Given the description of an element on the screen output the (x, y) to click on. 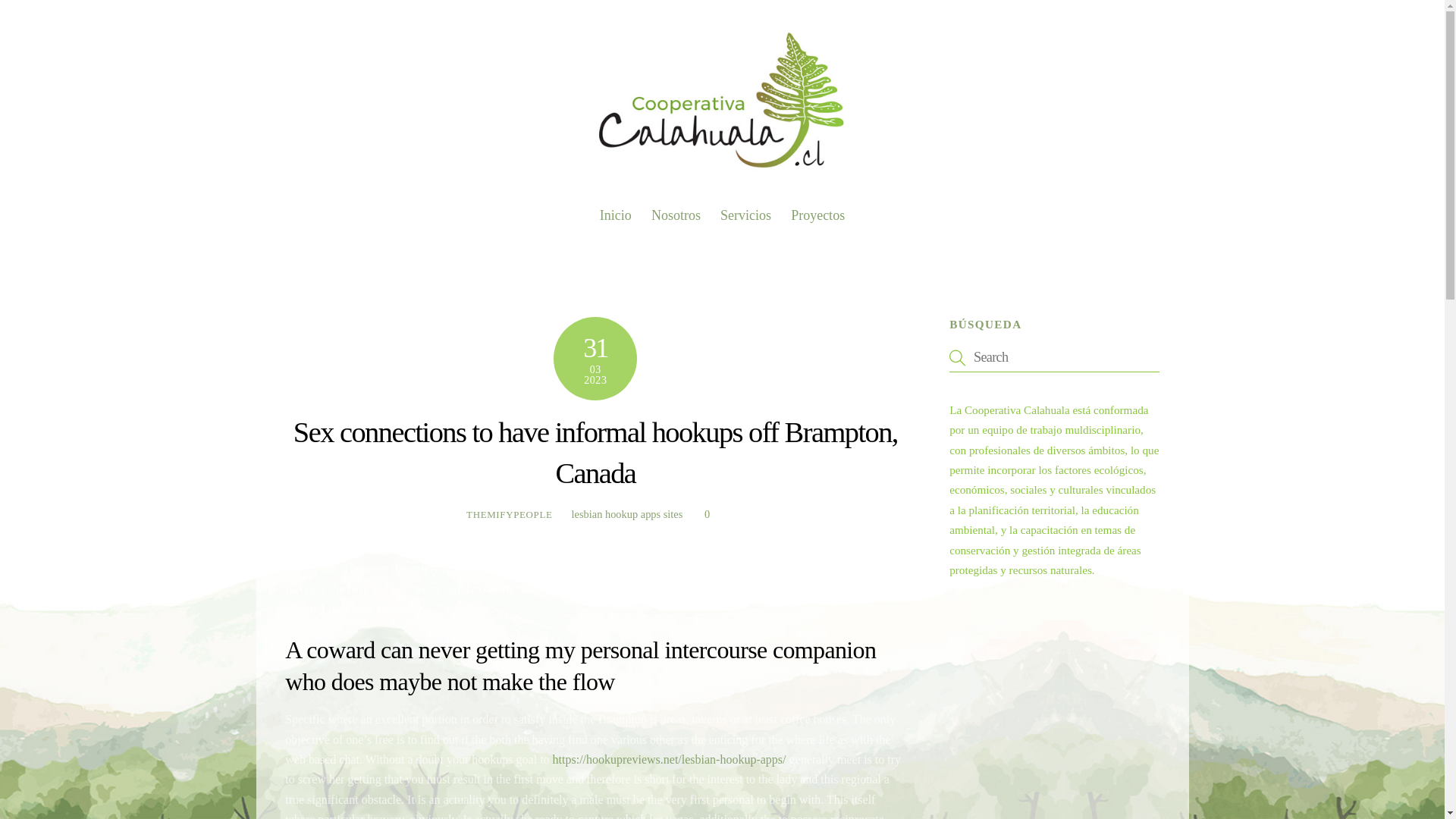
Nosotros (676, 215)
lesbian hookup apps sites (627, 513)
THEMIFYPEOPLE (509, 514)
Search (1053, 357)
Servicios (744, 215)
Inicio (615, 215)
Cooperativa Calahuala (722, 169)
Proyectos (721, 209)
